Given the description of an element on the screen output the (x, y) to click on. 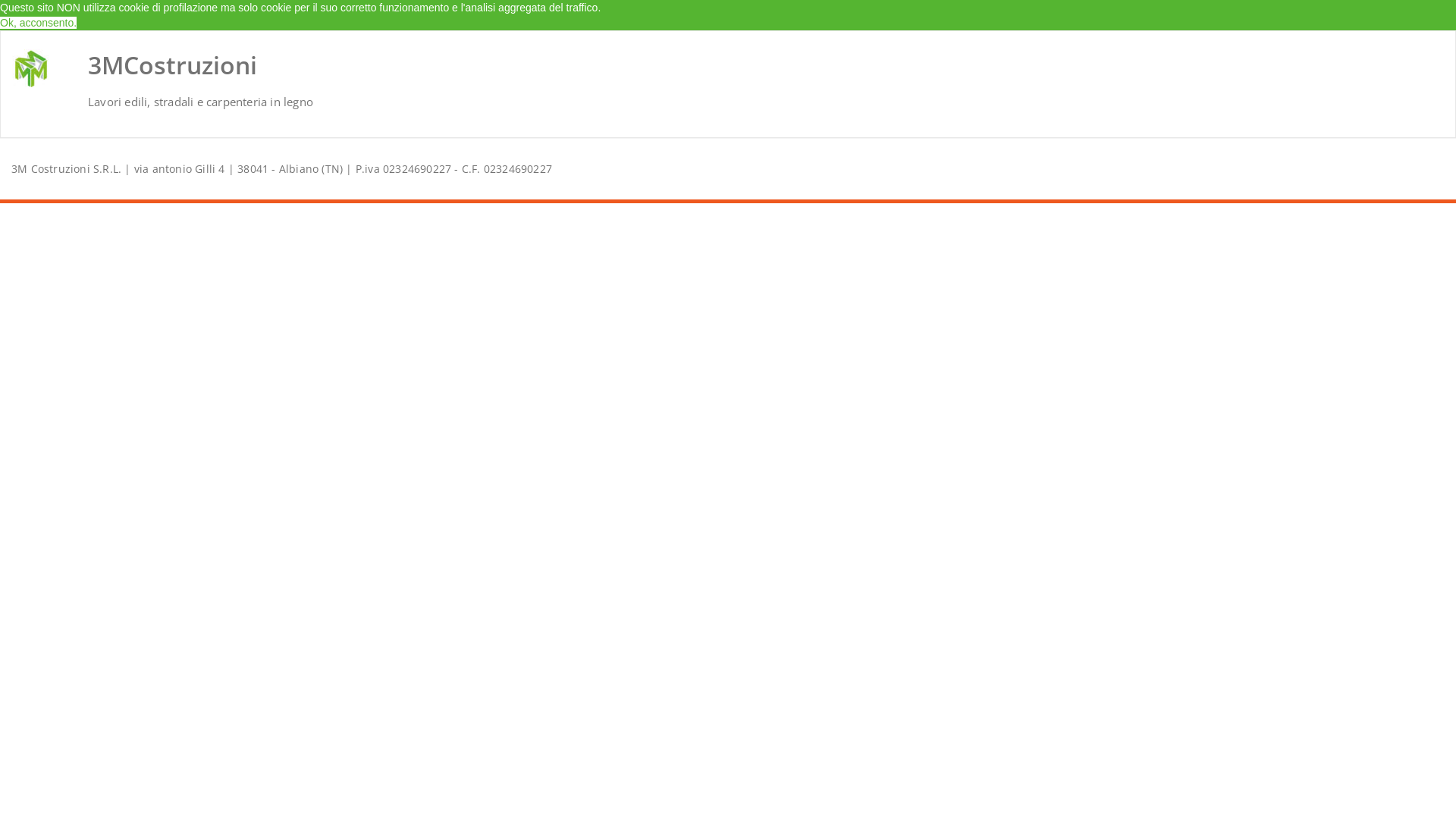
Ok, acconsento. Element type: text (38, 22)
3MCostruzioni Element type: text (172, 64)
